Given the description of an element on the screen output the (x, y) to click on. 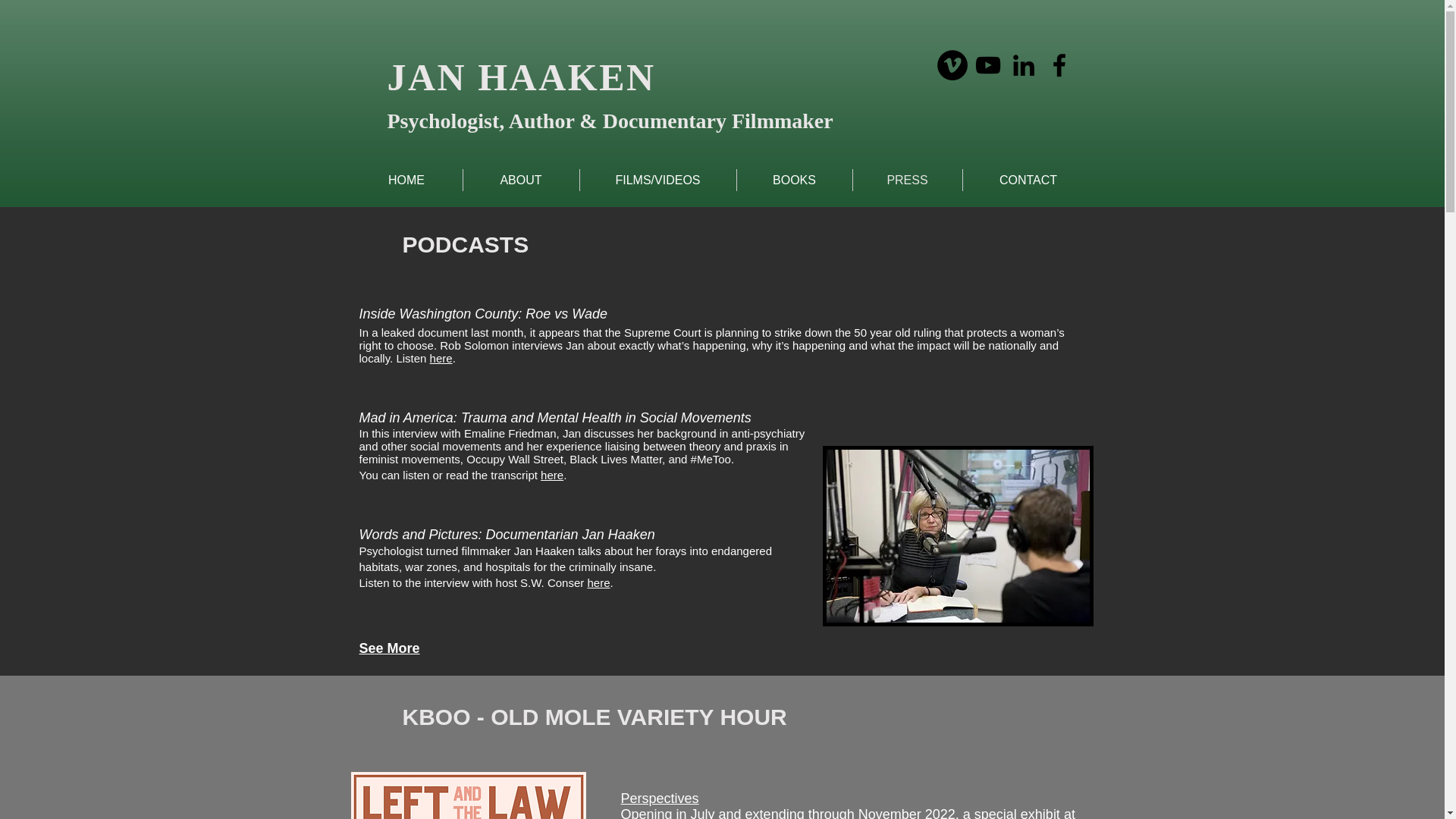
JAN HAAKEN (521, 77)
PRESS (905, 179)
here (598, 582)
HOME (405, 179)
Left and the Law.png (467, 795)
CONTACT (1028, 179)
ABOUT (520, 179)
here (551, 474)
here (440, 358)
BOOKS (793, 179)
